Given the description of an element on the screen output the (x, y) to click on. 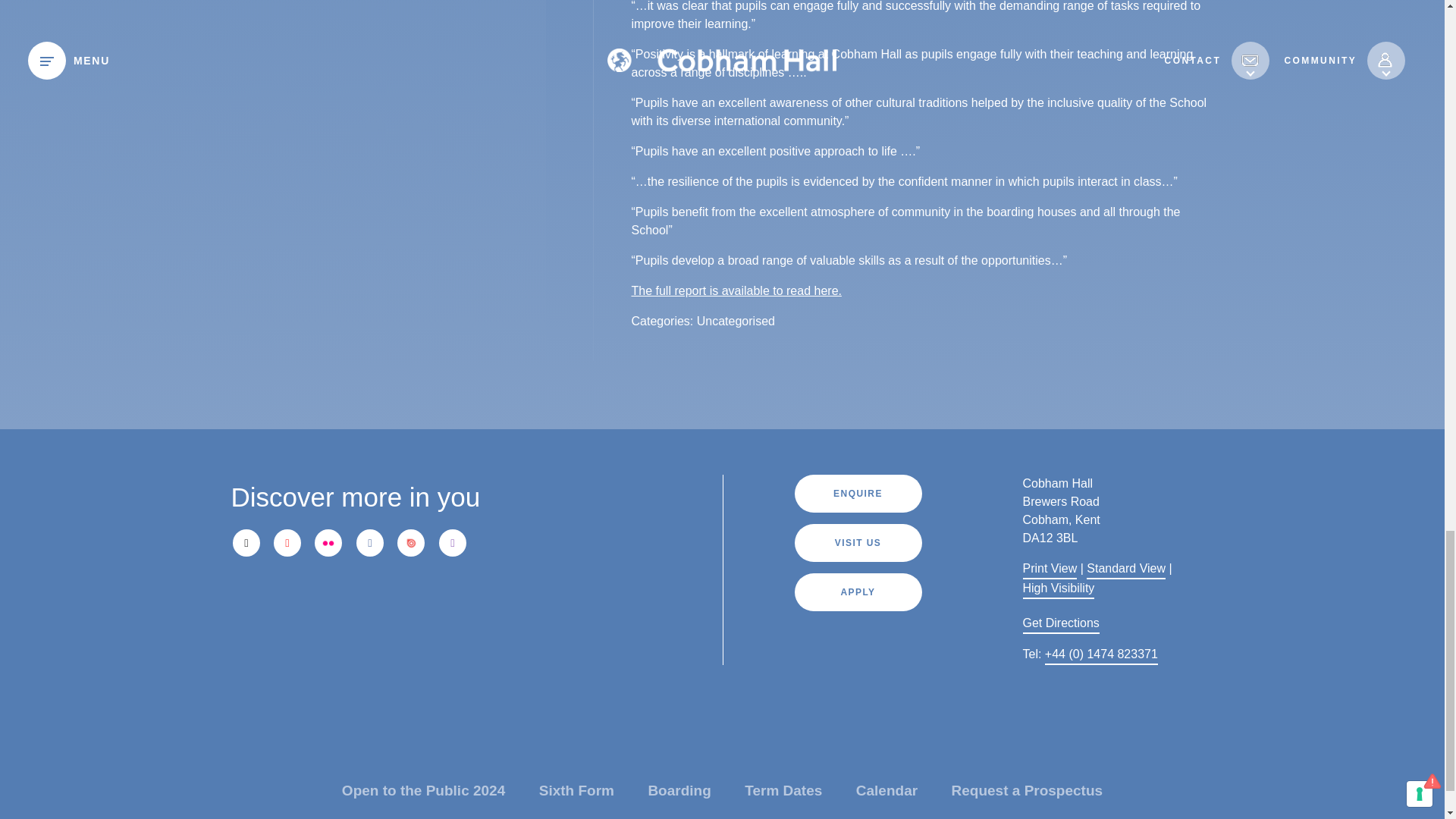
Mill Hill Education Group (344, 598)
DofE (263, 662)
round square (491, 598)
Crested (353, 661)
School Policies and Inspection Reports (735, 290)
WomensClub (560, 662)
Cambridge (574, 598)
BSA (619, 662)
GSA (464, 662)
